Given the description of an element on the screen output the (x, y) to click on. 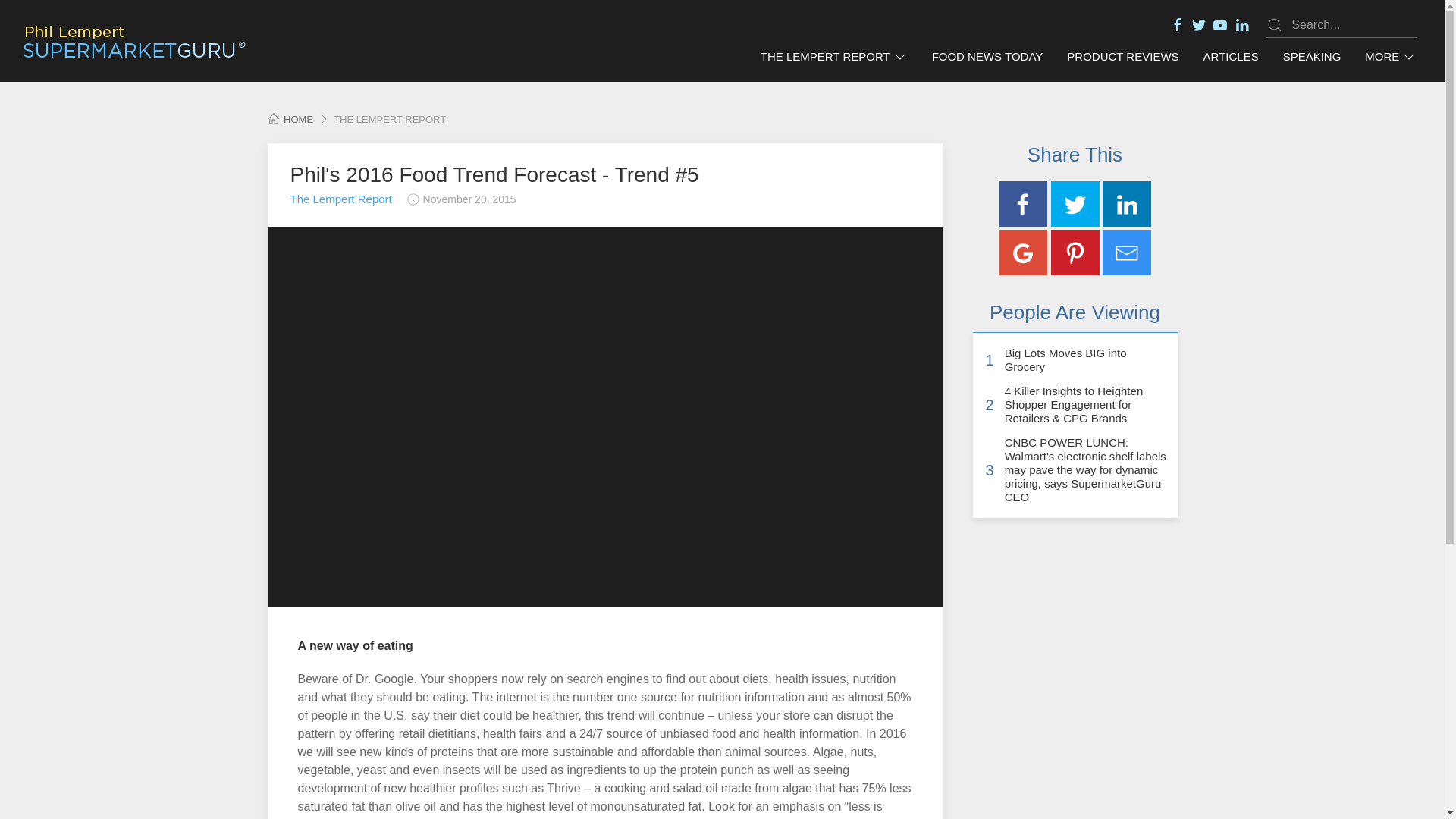
THE LEMPERT REPORT (834, 56)
MORE (1390, 56)
FOOD NEWS TODAY (987, 56)
SPEAKING (1312, 56)
PRODUCT REVIEWS (1122, 56)
HOME (289, 119)
ARTICLES (1231, 56)
